Given the description of an element on the screen output the (x, y) to click on. 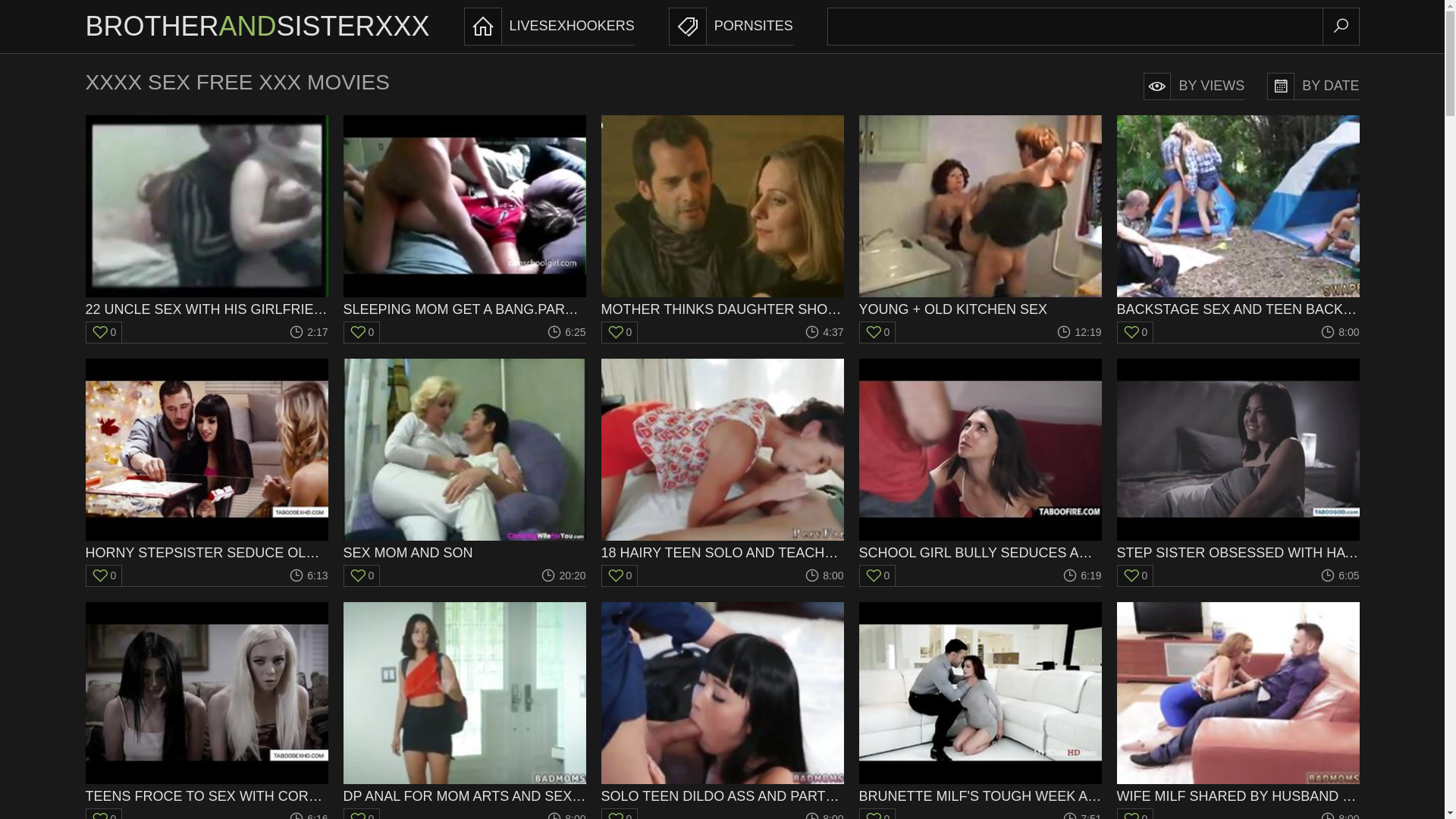
SLEEPING MOM GET A BANG.PART 2 @ CAMSCHOOLGIRL.COM Element type: text (463, 216)
BROTHERANDSISTERXXX Element type: text (256, 26)
YOUNG + OLD KITCHEN SEX Element type: text (979, 216)
TEENS FROCE TO SEX WITH CORRUPTED COP Element type: text (205, 703)
BY DATE Element type: text (1312, 86)
SOLO TEEN DILDO ASS AND PARTY SEX BAD AND BREAKFAST Element type: text (721, 703)
22 UNCLE SEX WITH HIS GIRLFRIEND Element type: text (205, 216)
PORNSITES Element type: text (730, 26)
Find Element type: hover (1340, 26)
SEX MOM AND SON Element type: text (463, 459)
LIVESEXHOOKERS Element type: text (549, 26)
SCHOOL GIRL BULLY SEDUCES AND FUCKS HER VICTIMS FATHER Element type: text (979, 459)
BACKSTAGE SEX AND TEEN BACKWOODS BARTERING Element type: text (1237, 216)
HORNY STEPSISTER SEDUCE OLDER BROTHER Element type: text (205, 459)
BY VIEWS Element type: text (1193, 86)
STEP SISTER OBSESSED WITH HAVING ANAL SEX WITH STEP BROTHER Element type: text (1237, 459)
DP ANAL FOR MOM ARTS AND SEX CRAFTS Element type: text (463, 703)
MOTHER THINKS DAUGHTER SHOULD HAVE SEX WITH A COWORKER Element type: text (721, 216)
